Given the description of an element on the screen output the (x, y) to click on. 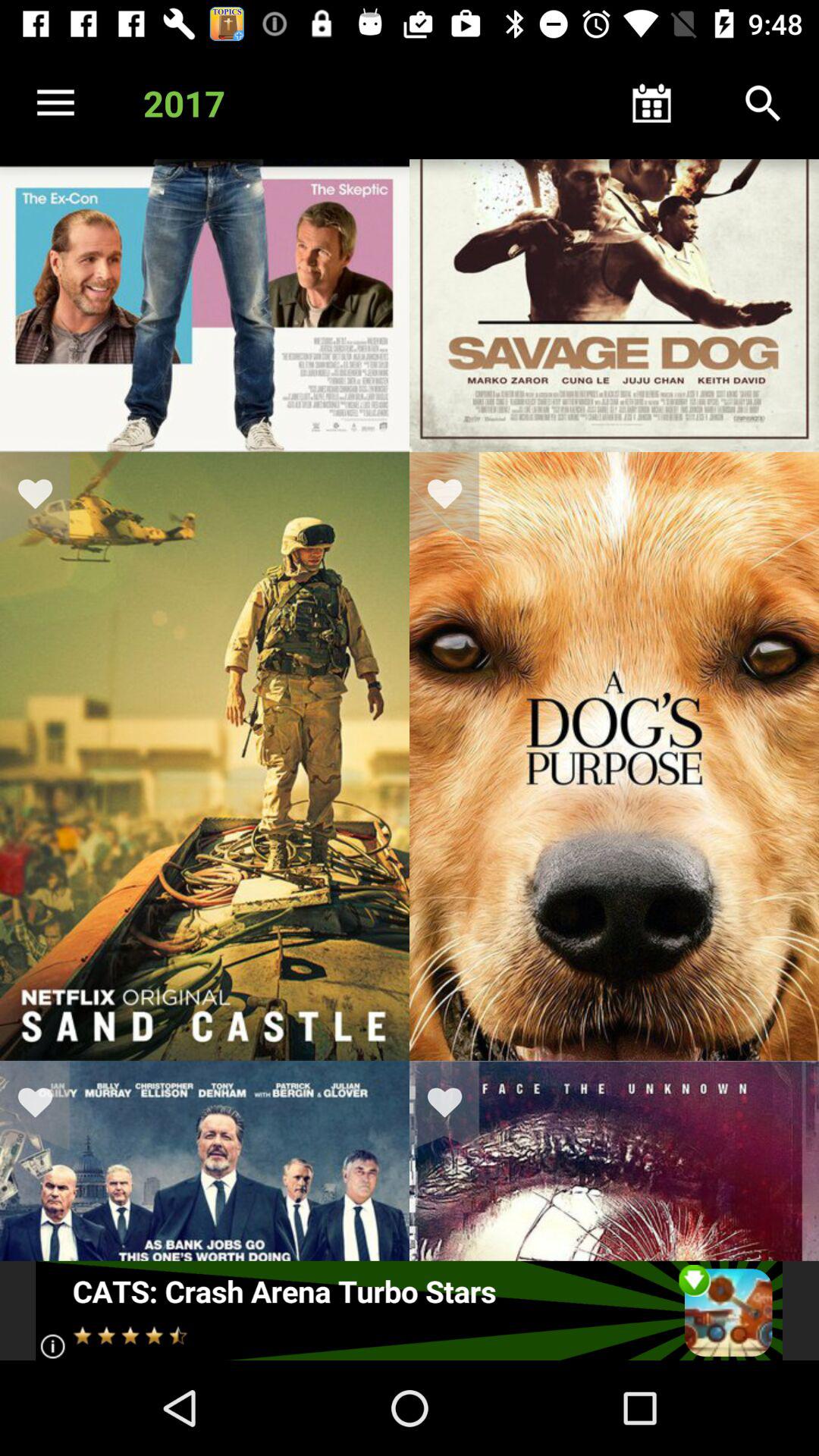
view advertisement (408, 1310)
